Given the description of an element on the screen output the (x, y) to click on. 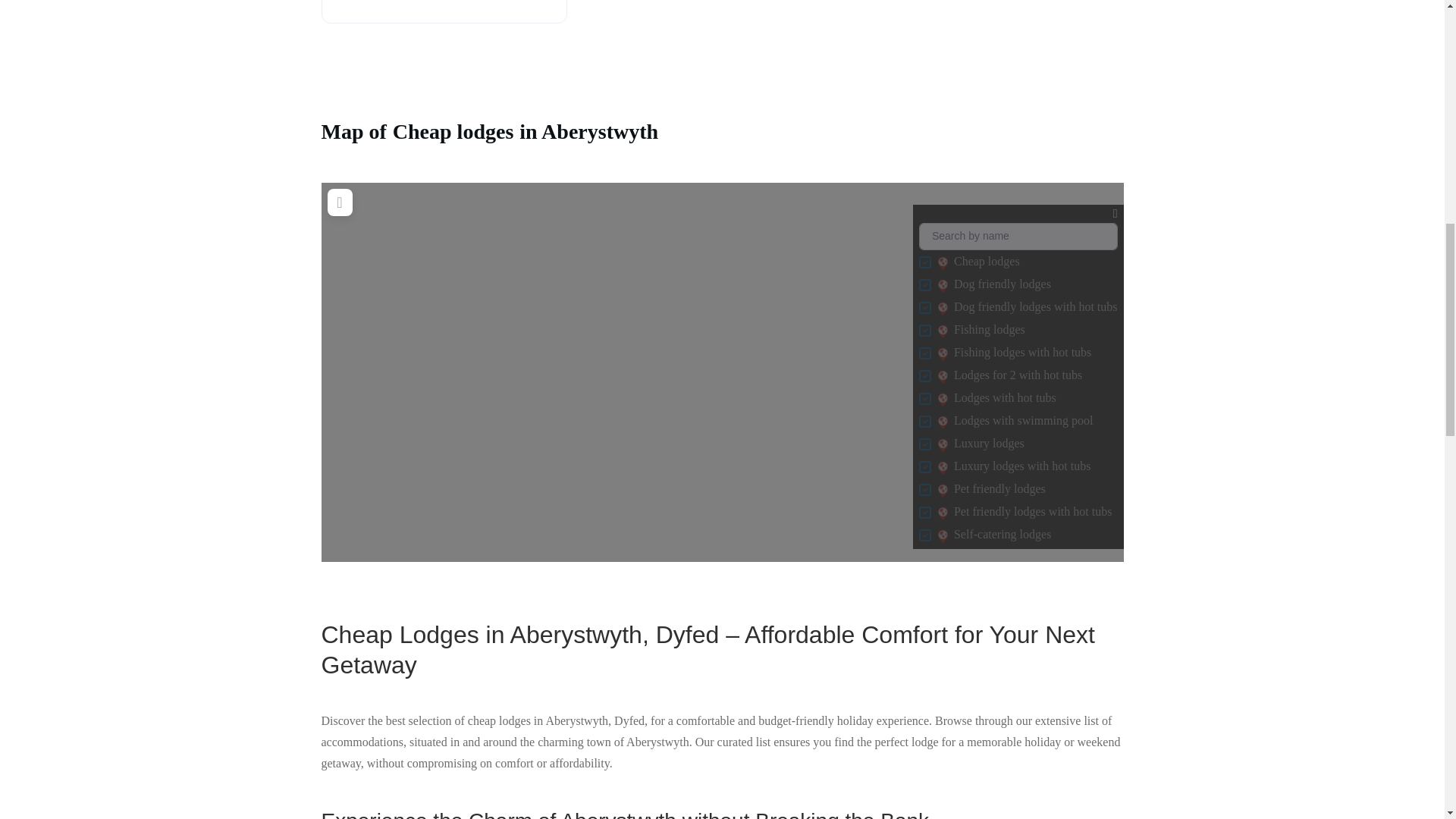
1442 (924, 262)
1448 (924, 421)
1441 (924, 444)
1439 (924, 307)
Dog friendly lodges with hot tubs (942, 308)
1446 (924, 467)
Pet friendly lodges (942, 490)
Cheap lodges (942, 262)
Lodges for 2 with hot tubs (942, 376)
1435 (924, 398)
